Given the description of an element on the screen output the (x, y) to click on. 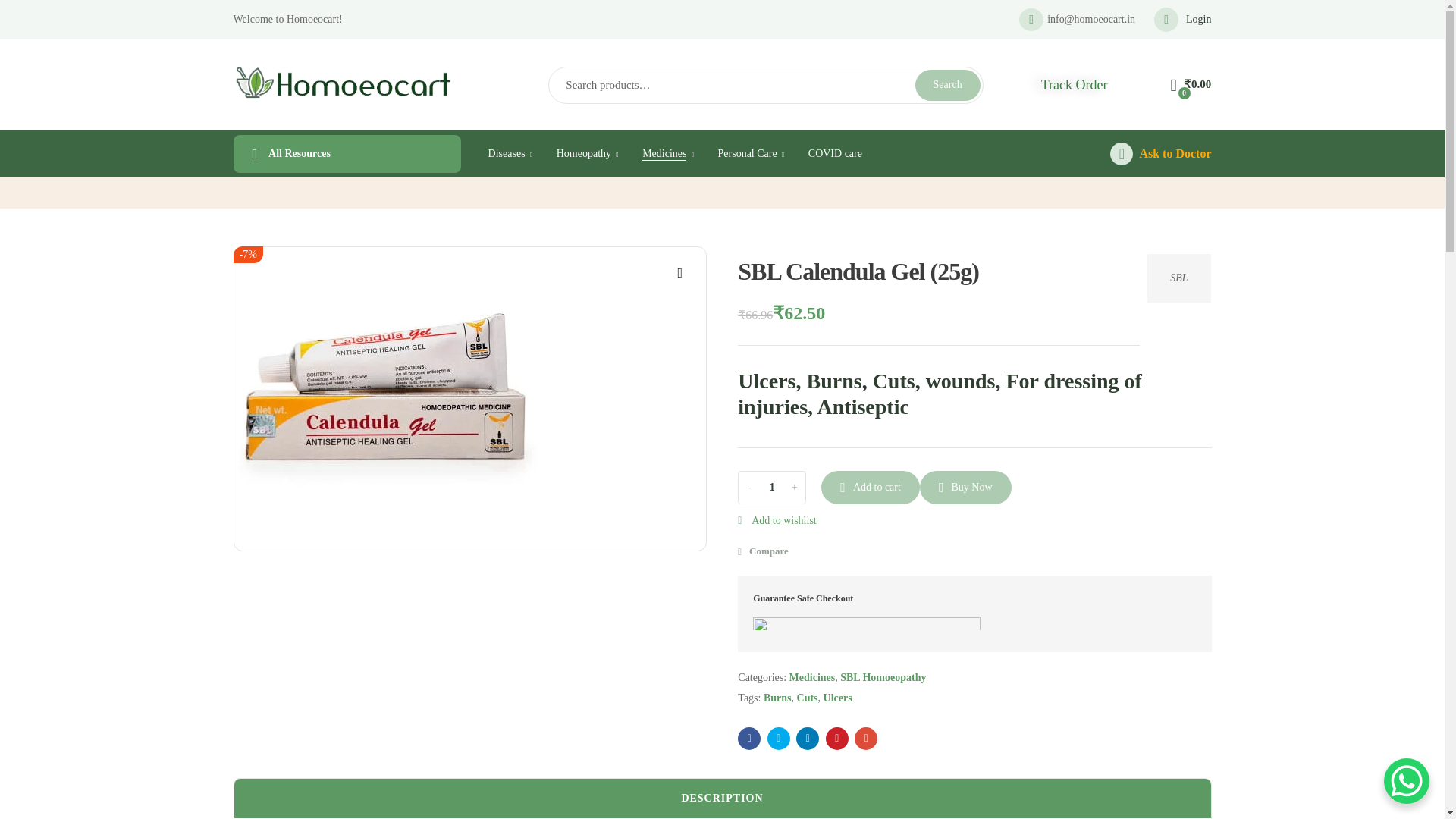
Login (1182, 19)
Qty (771, 487)
Share on Pinterest (836, 738)
Share on Twitter (778, 738)
1 (771, 487)
Share on facebook (749, 738)
View your shopping cart (1190, 85)
Search (947, 84)
Email to a Friend (865, 738)
Track Order (1074, 84)
Share on LinkedIn (807, 738)
sbl117 (384, 398)
